Given the description of an element on the screen output the (x, y) to click on. 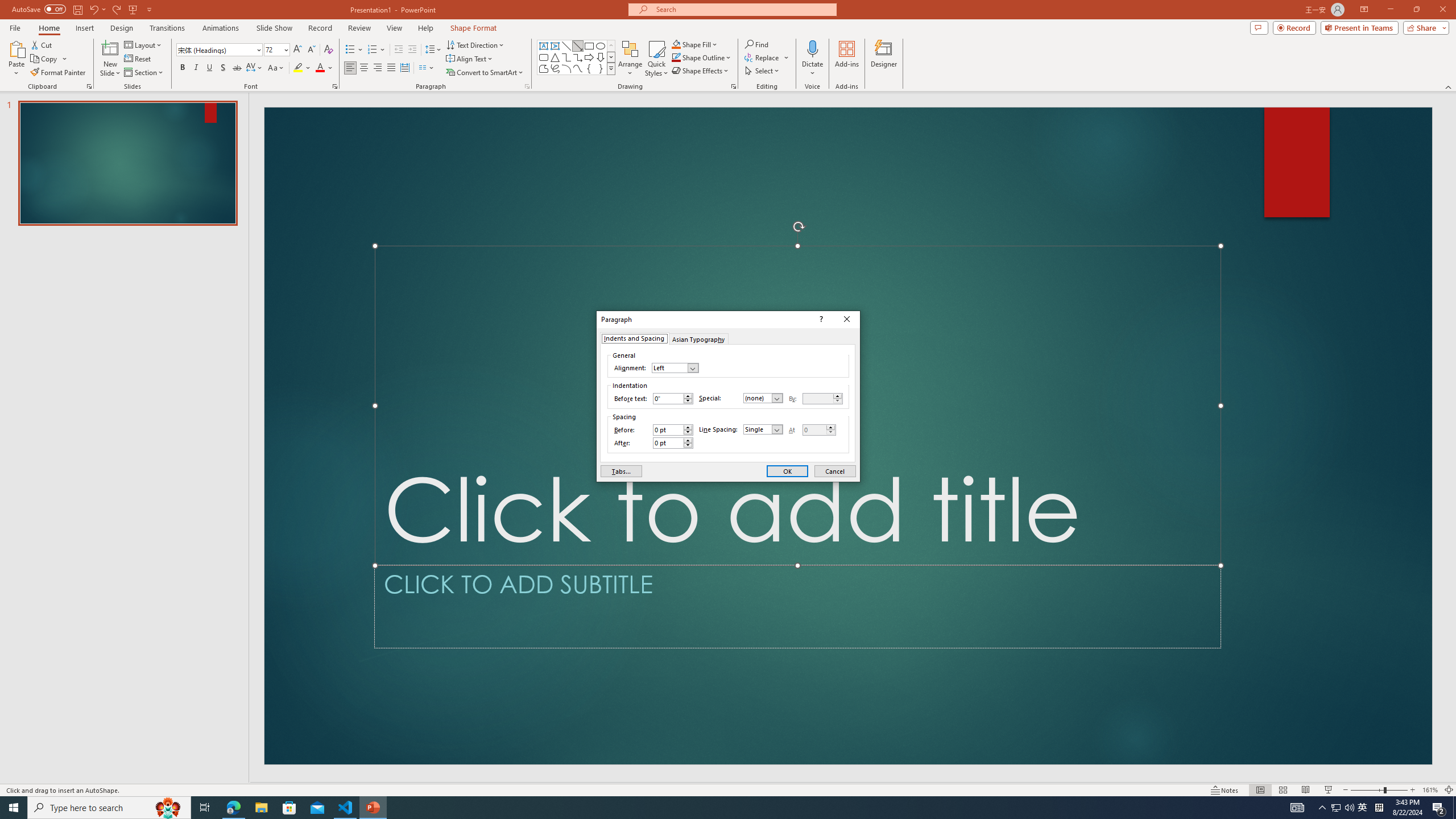
At (814, 429)
